Given the description of an element on the screen output the (x, y) to click on. 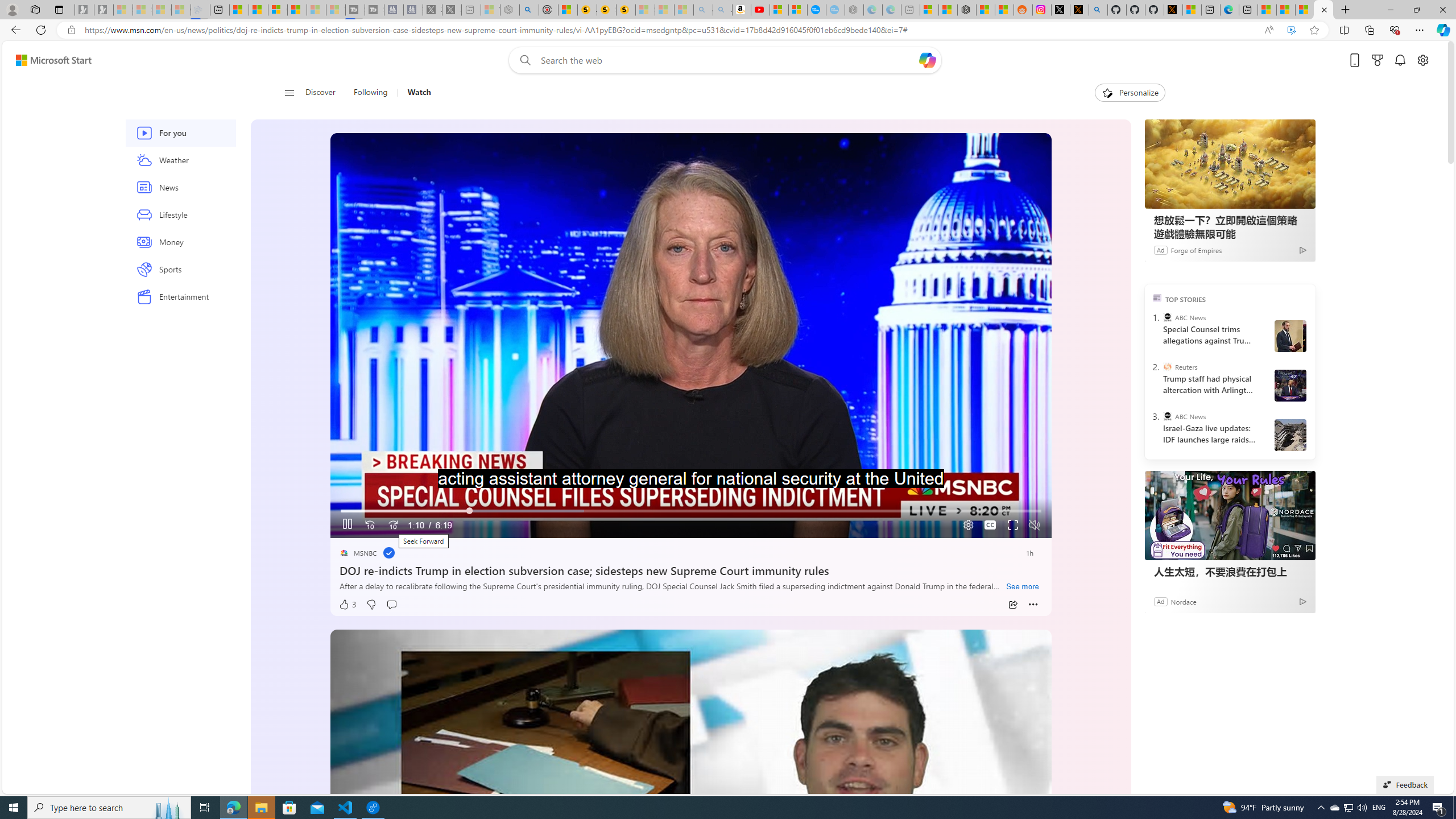
Seek Back (369, 525)
MSNBC - MSN (1285, 9)
Streaming Coverage | T3 - Sleeping (354, 9)
Microsoft rewards (1377, 60)
poe - Search (529, 9)
Skip to footer (46, 59)
